Given the description of an element on the screen output the (x, y) to click on. 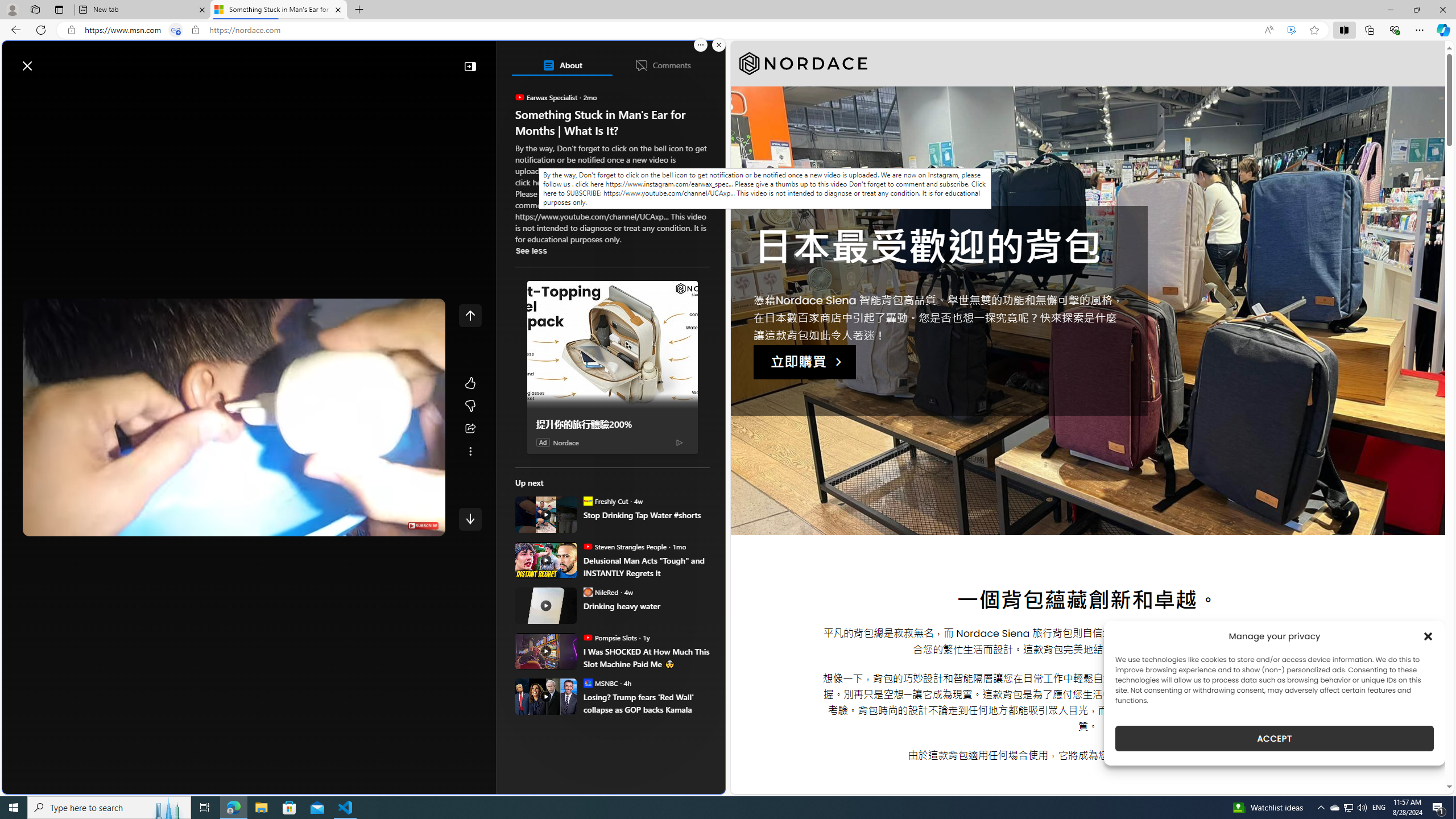
Share this story (469, 428)
NileRed NileRed (600, 591)
Restore (1416, 9)
Class: button-glyph (16, 92)
Stop Drinking Tap Water #shorts (545, 514)
Personal Profile (12, 9)
Settings (366, 525)
Copilot (Ctrl+Shift+.) (1442, 29)
App bar (728, 29)
Enhance video (1291, 29)
Channel watermark (422, 525)
